Given the description of an element on the screen output the (x, y) to click on. 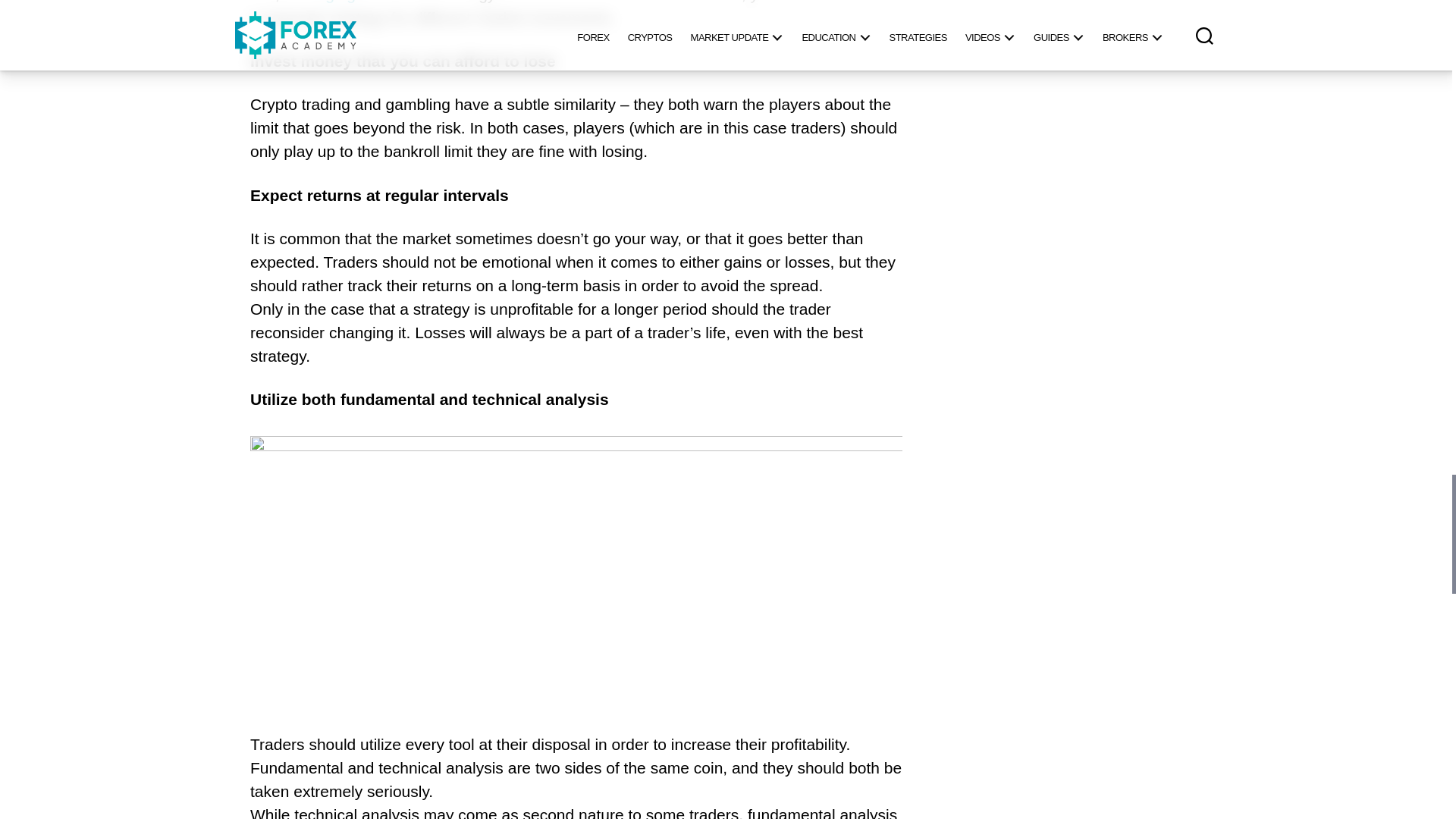
ranging markets (359, 3)
